Given the description of an element on the screen output the (x, y) to click on. 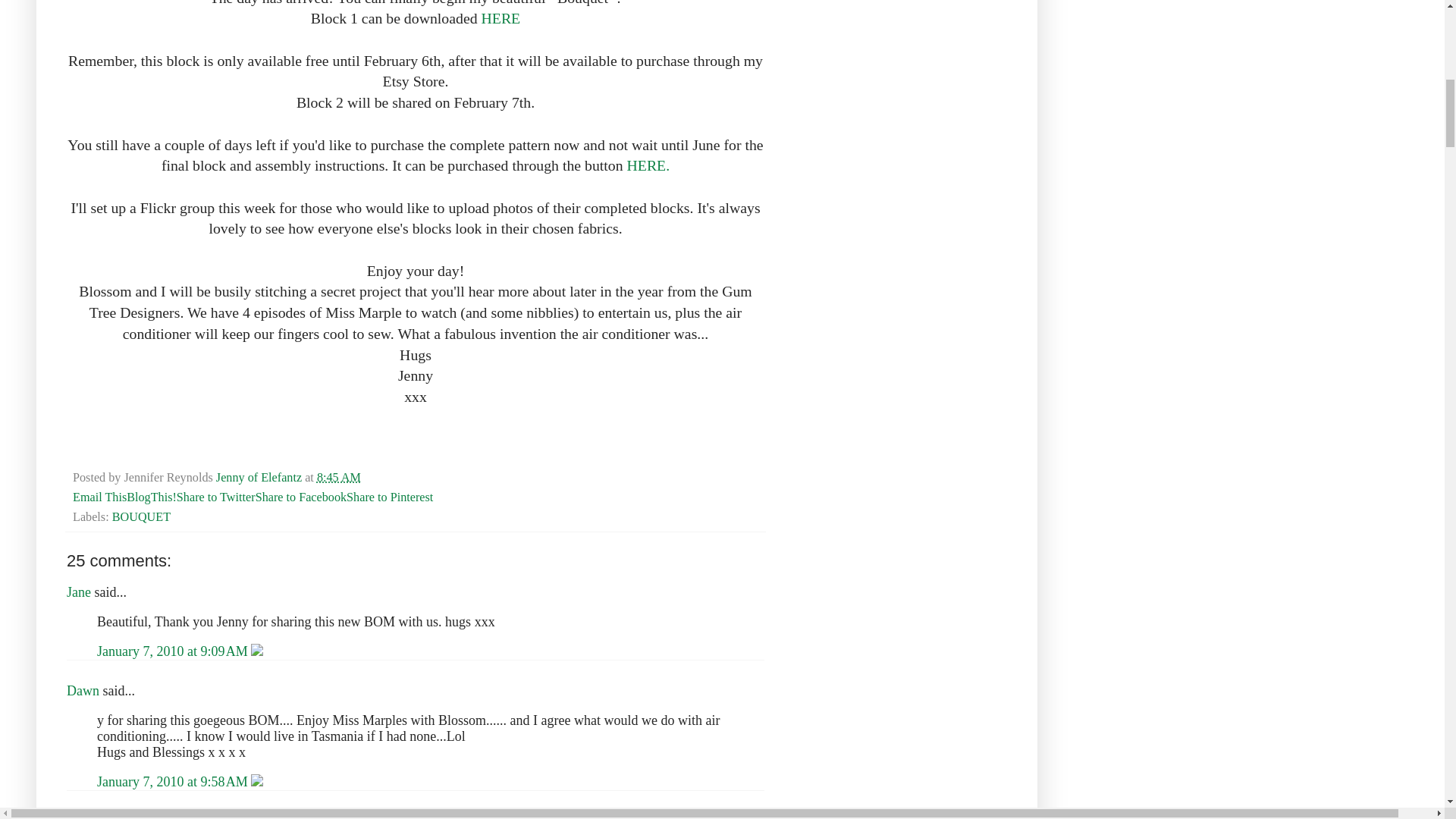
Share to Pinterest (389, 497)
BOUQUET (141, 517)
Share to Twitter (216, 497)
comment permalink (173, 651)
comment permalink (173, 781)
Share to Pinterest (389, 497)
Orcsmom (93, 816)
8:45 AM (339, 477)
Email This (99, 497)
BlogThis! (151, 497)
author profile (259, 477)
Share to Twitter (216, 497)
Share to Facebook (301, 497)
HERE. (648, 165)
Jane (78, 591)
